Given the description of an element on the screen output the (x, y) to click on. 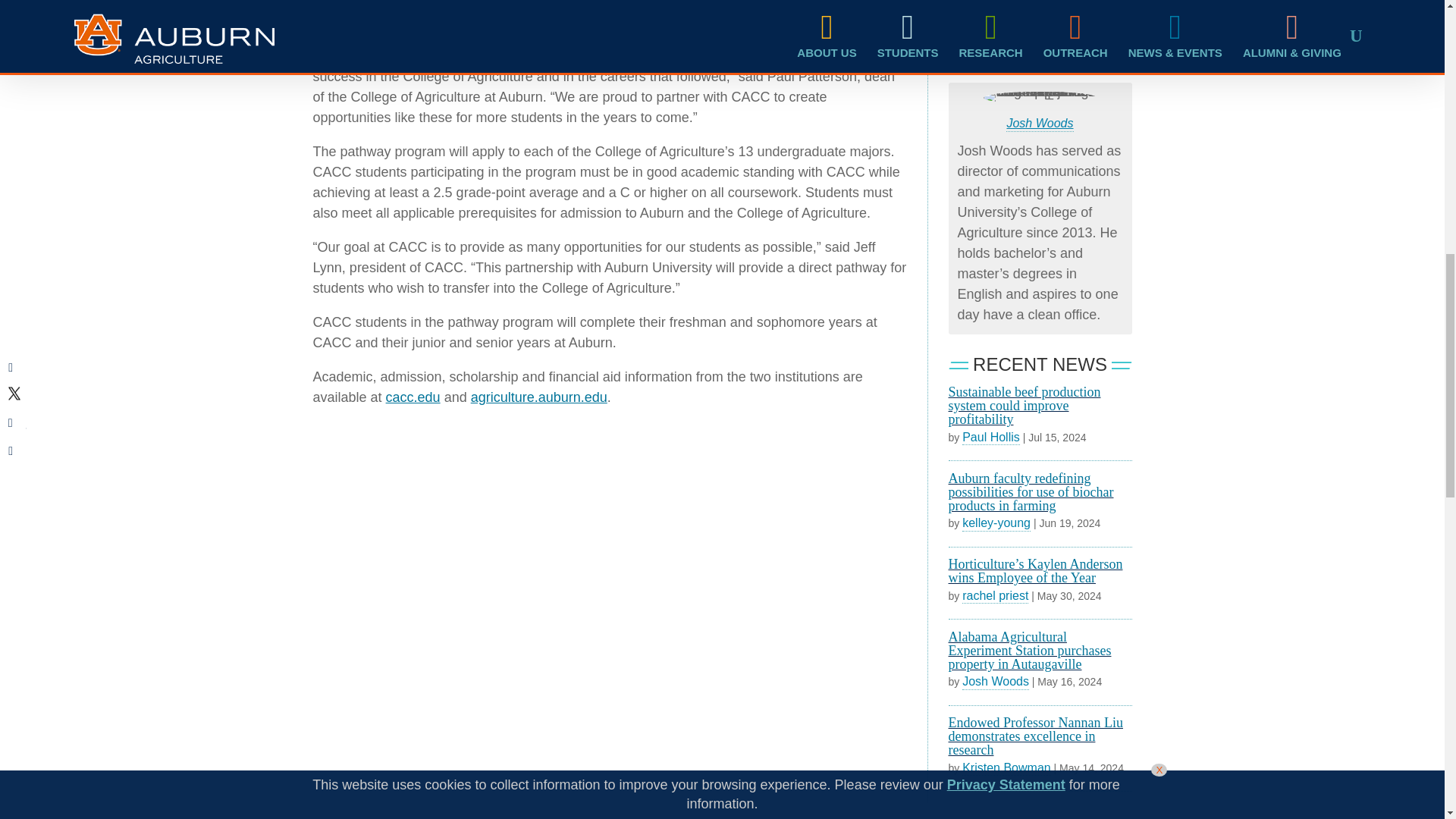
Posts by Kristen Bowman (1006, 767)
Posts by Paul Hollis (991, 437)
Posts by rachel priest (994, 595)
Posts by Josh Woods (995, 681)
Posts by kelley-young (996, 522)
